Given the description of an element on the screen output the (x, y) to click on. 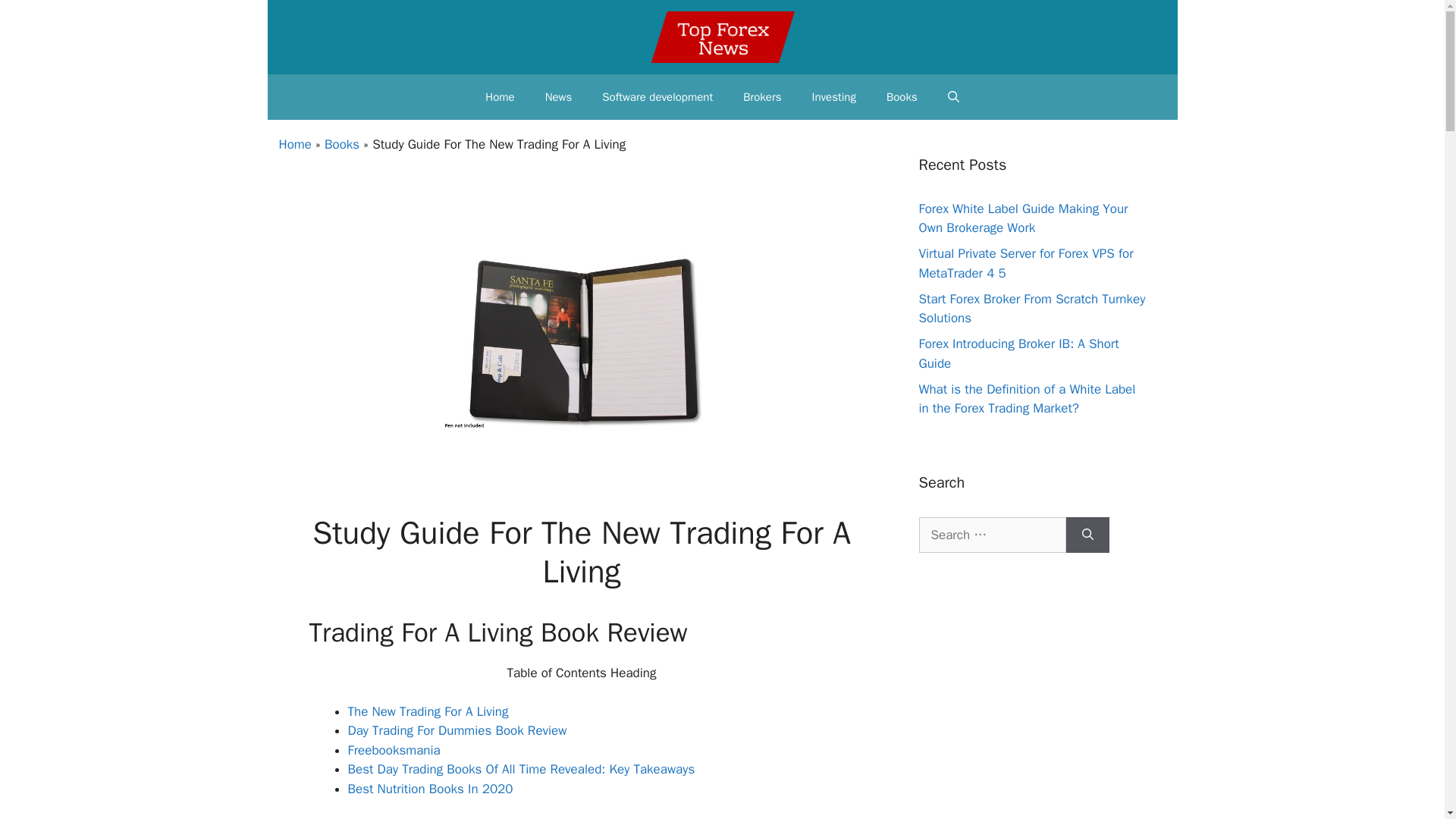
Brokers (762, 96)
Start Forex Broker From Scratch Turnkey Solutions (1031, 308)
TopForexNews.org (722, 35)
The New Trading For A Living (427, 711)
Best Nutrition Books In 2020 (429, 788)
Day Trading For Dummies Book Review (456, 730)
Home (295, 144)
News (558, 96)
Books (901, 96)
